Given the description of an element on the screen output the (x, y) to click on. 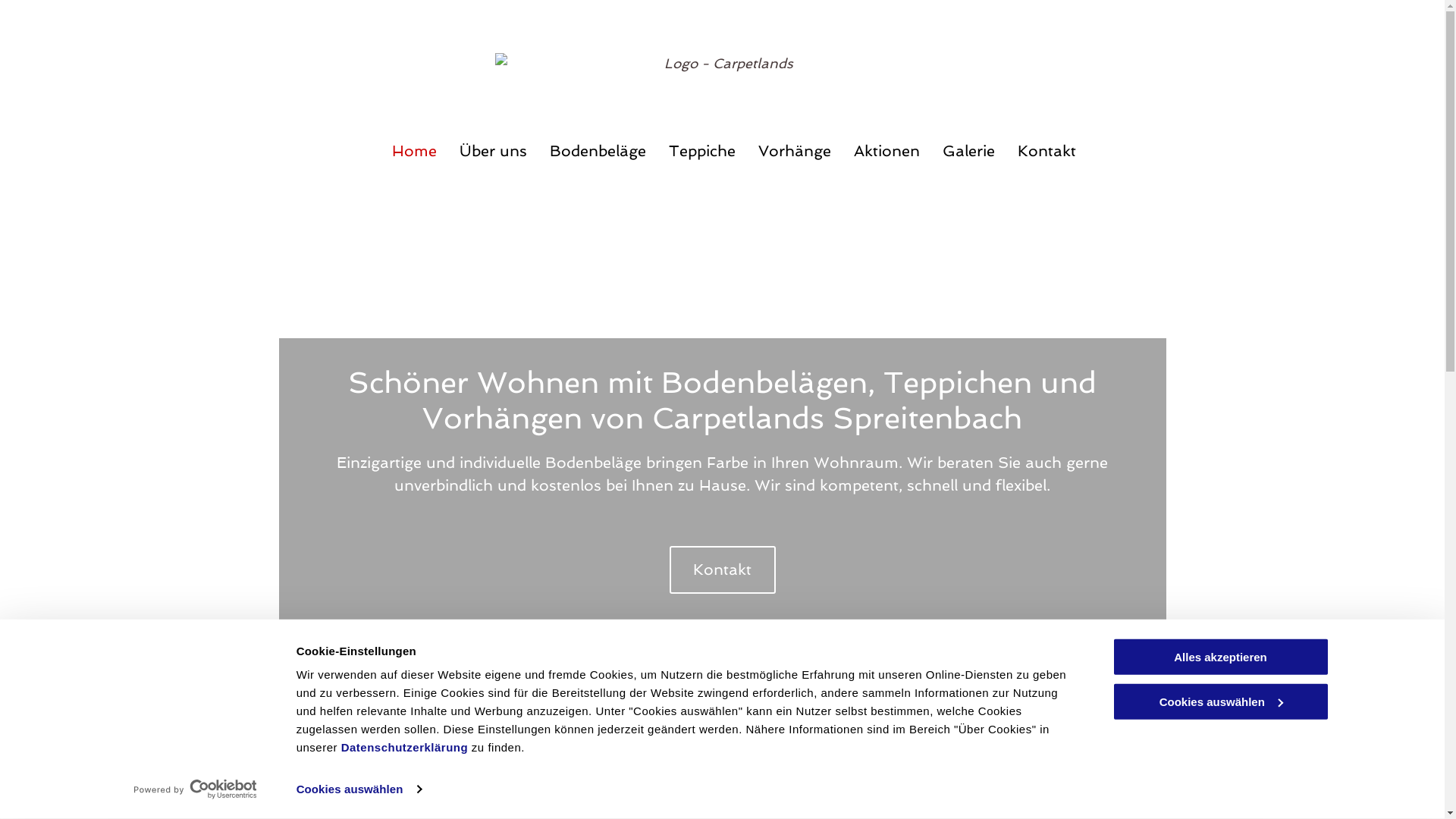
Home Element type: text (413, 150)
Teppiche Element type: text (701, 150)
Kontakt Element type: text (721, 569)
Galerie Element type: text (967, 150)
Aktionen Element type: text (886, 150)
Alles akzeptieren Element type: text (1219, 656)
Kontakt Element type: text (1046, 150)
